Given the description of an element on the screen output the (x, y) to click on. 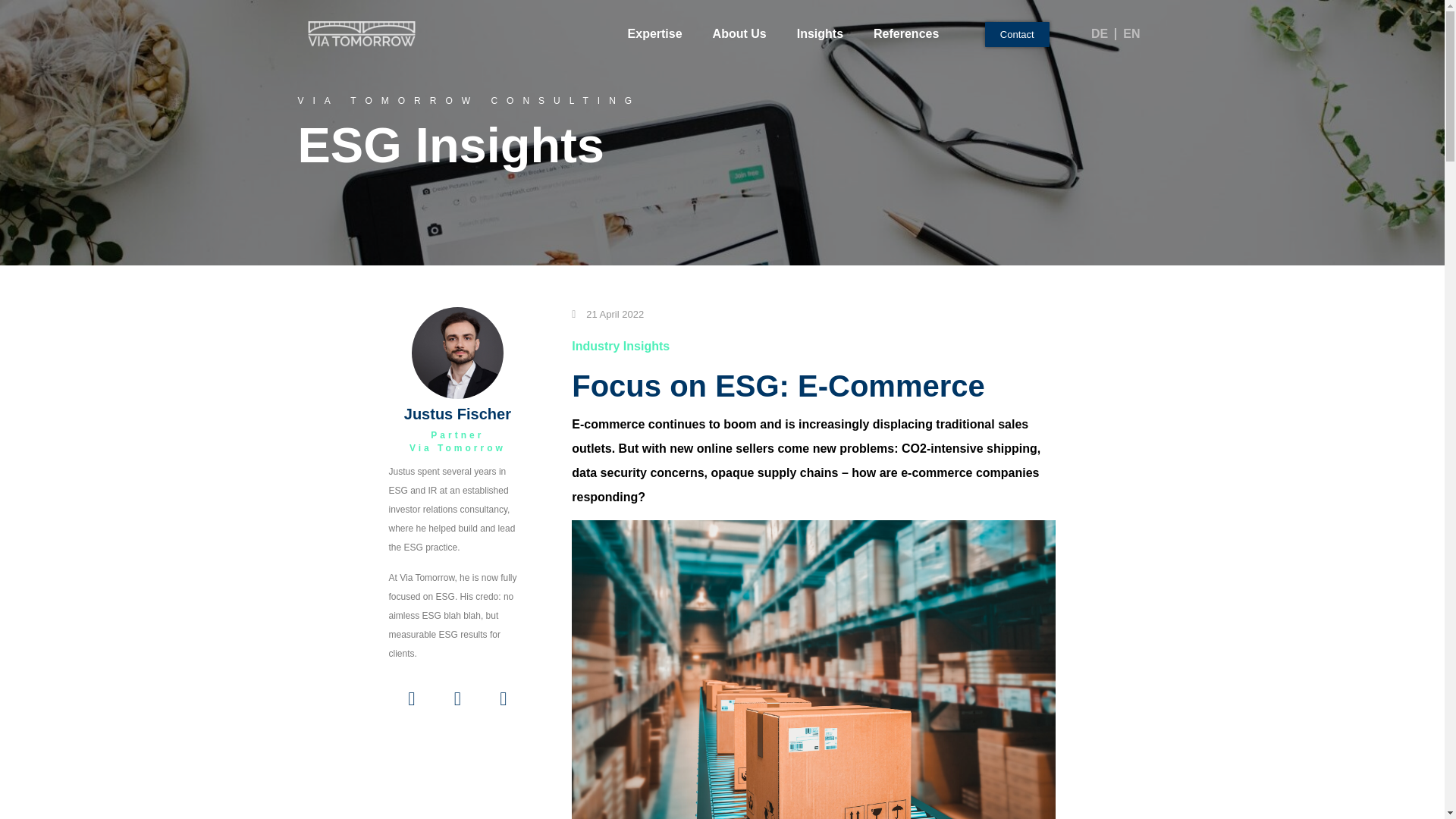
DE (1099, 33)
Expertise (654, 9)
Industry Insights (620, 345)
Insights (820, 10)
Contact (1017, 18)
EN (1131, 33)
About Us (739, 9)
References (906, 11)
Justus Fischer (456, 352)
